Given the description of an element on the screen output the (x, y) to click on. 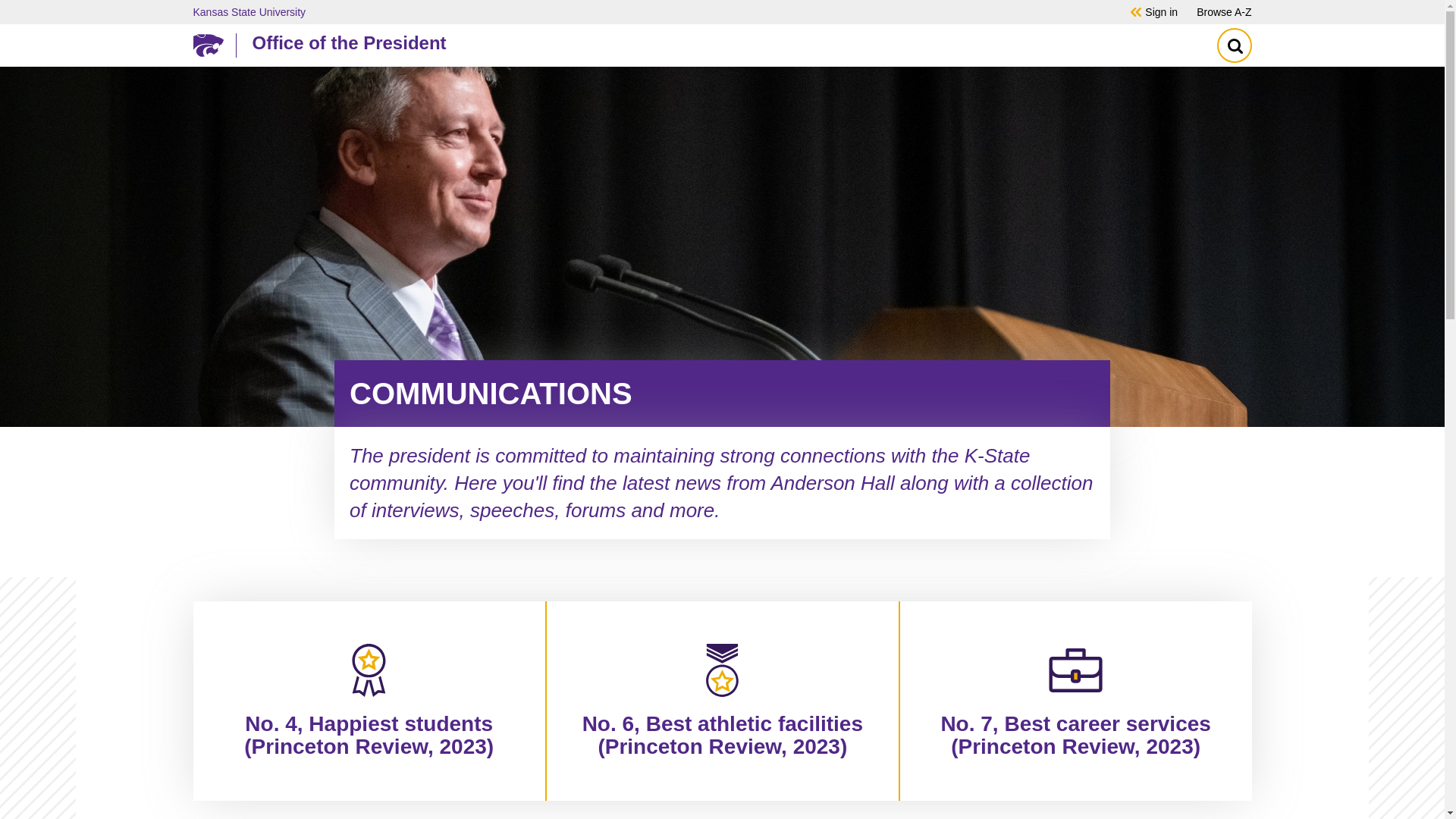
Office of the President (718, 43)
Browse A-Z (1223, 11)
Kansas State University (639, 11)
Sign in (1160, 11)
